Given the description of an element on the screen output the (x, y) to click on. 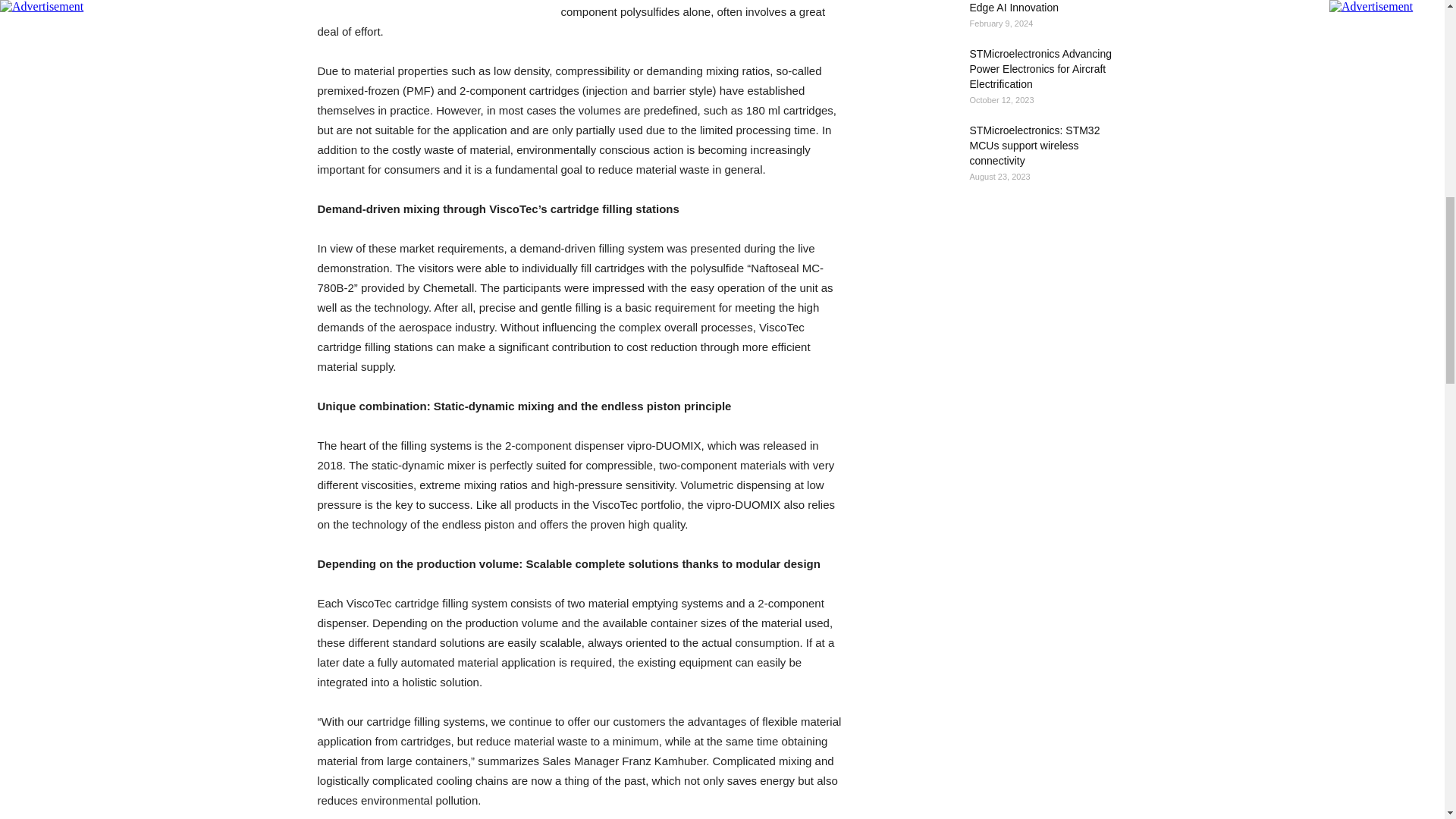
advertisement (430, 7)
